Given the description of an element on the screen output the (x, y) to click on. 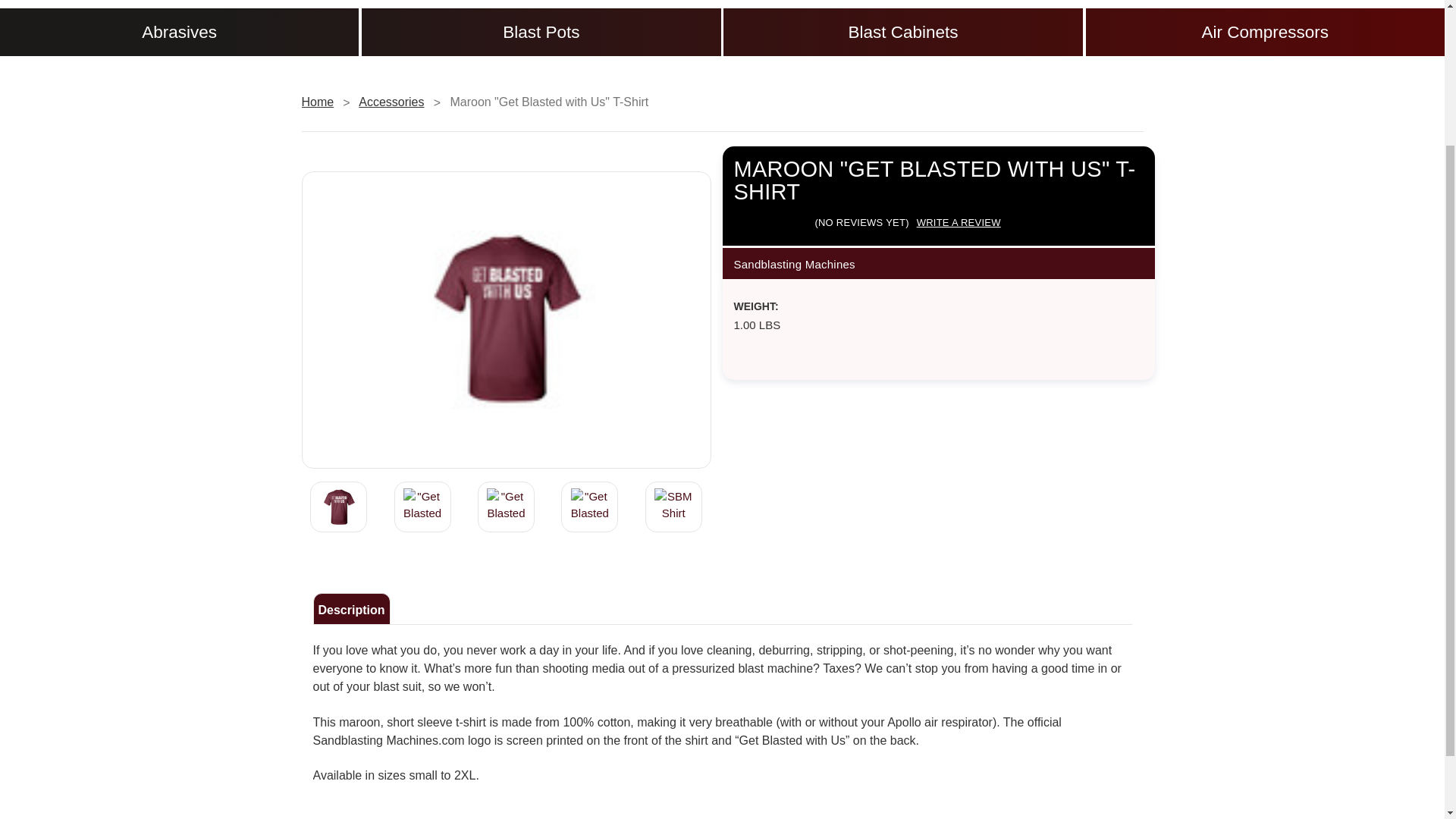
"Get Blasted With Us" Back on Model (505, 507)
Sandblasting Machines (260, 4)
"Get Blasted With Us" Front on Model (589, 507)
SBM Shirt Size Chart (673, 507)
"Get Blasted With Us" Back (505, 320)
"Get Blasted With Us" Back (339, 507)
"Get Blasted With Us" Front (422, 507)
